Given the description of an element on the screen output the (x, y) to click on. 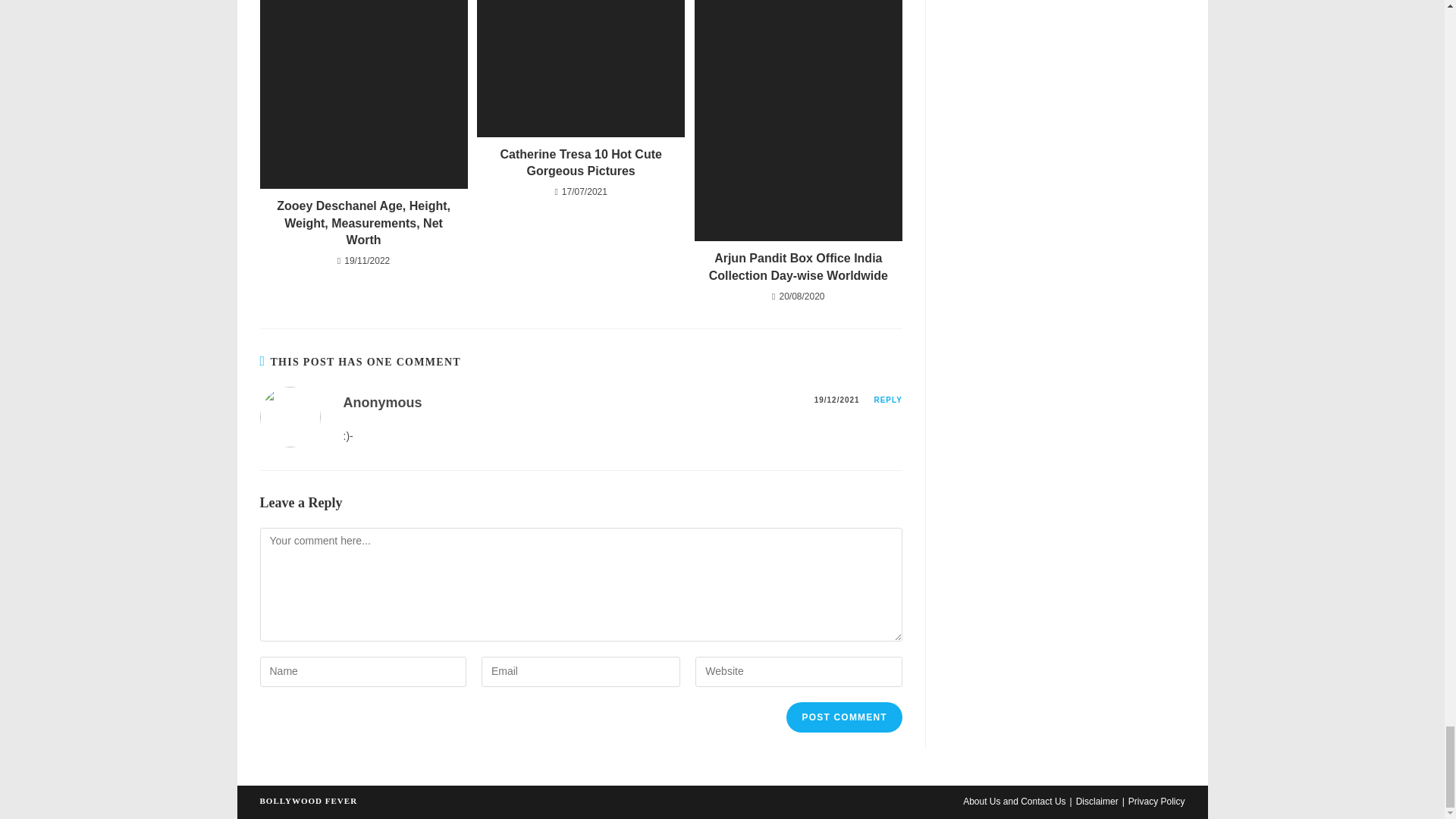
Post Comment (843, 716)
